Given the description of an element on the screen output the (x, y) to click on. 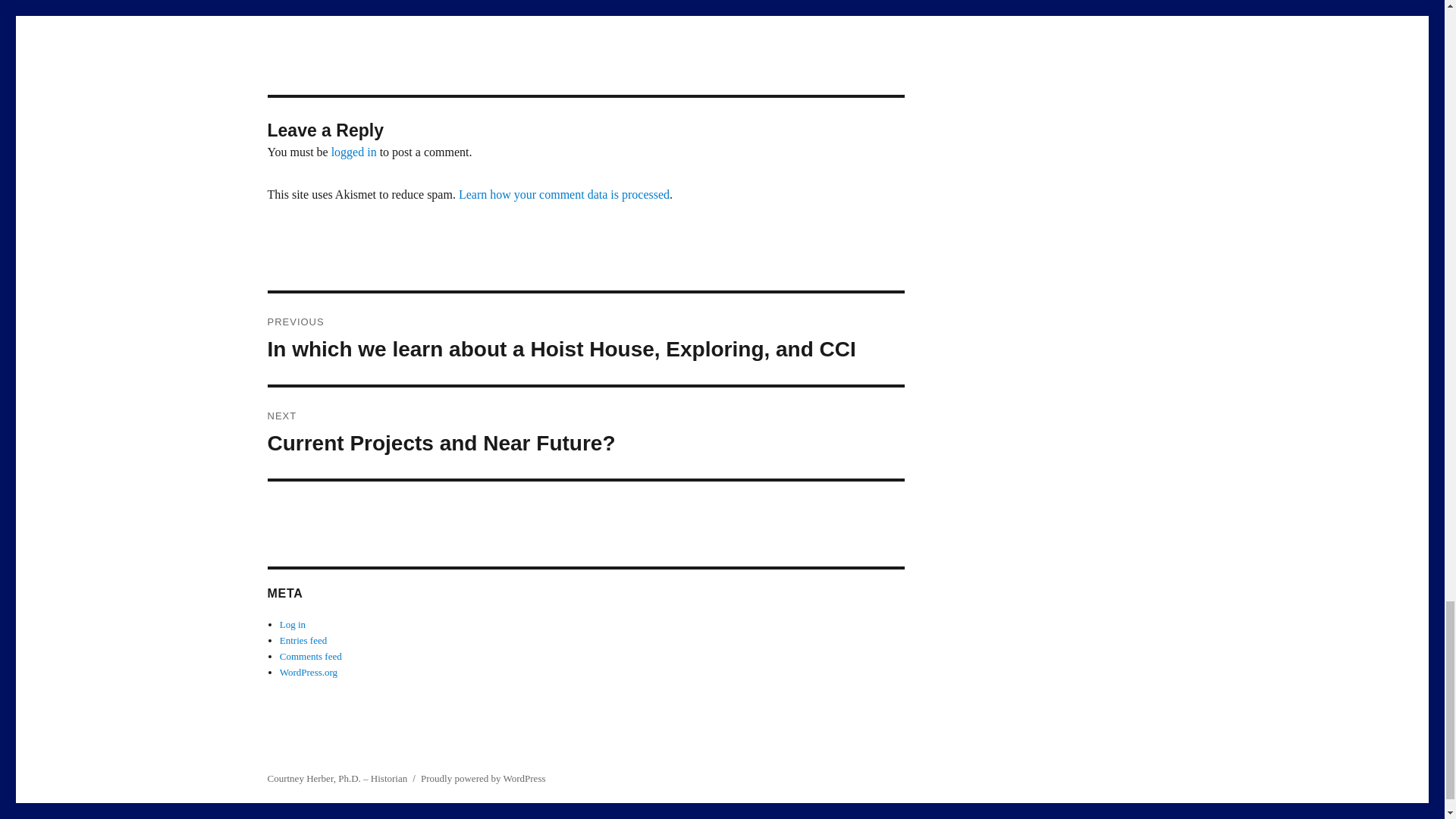
Log in (585, 432)
Comments feed (292, 624)
WordPress.org (310, 655)
Entries feed (308, 672)
Learn how your comment data is processed (302, 640)
logged in (563, 194)
